Given the description of an element on the screen output the (x, y) to click on. 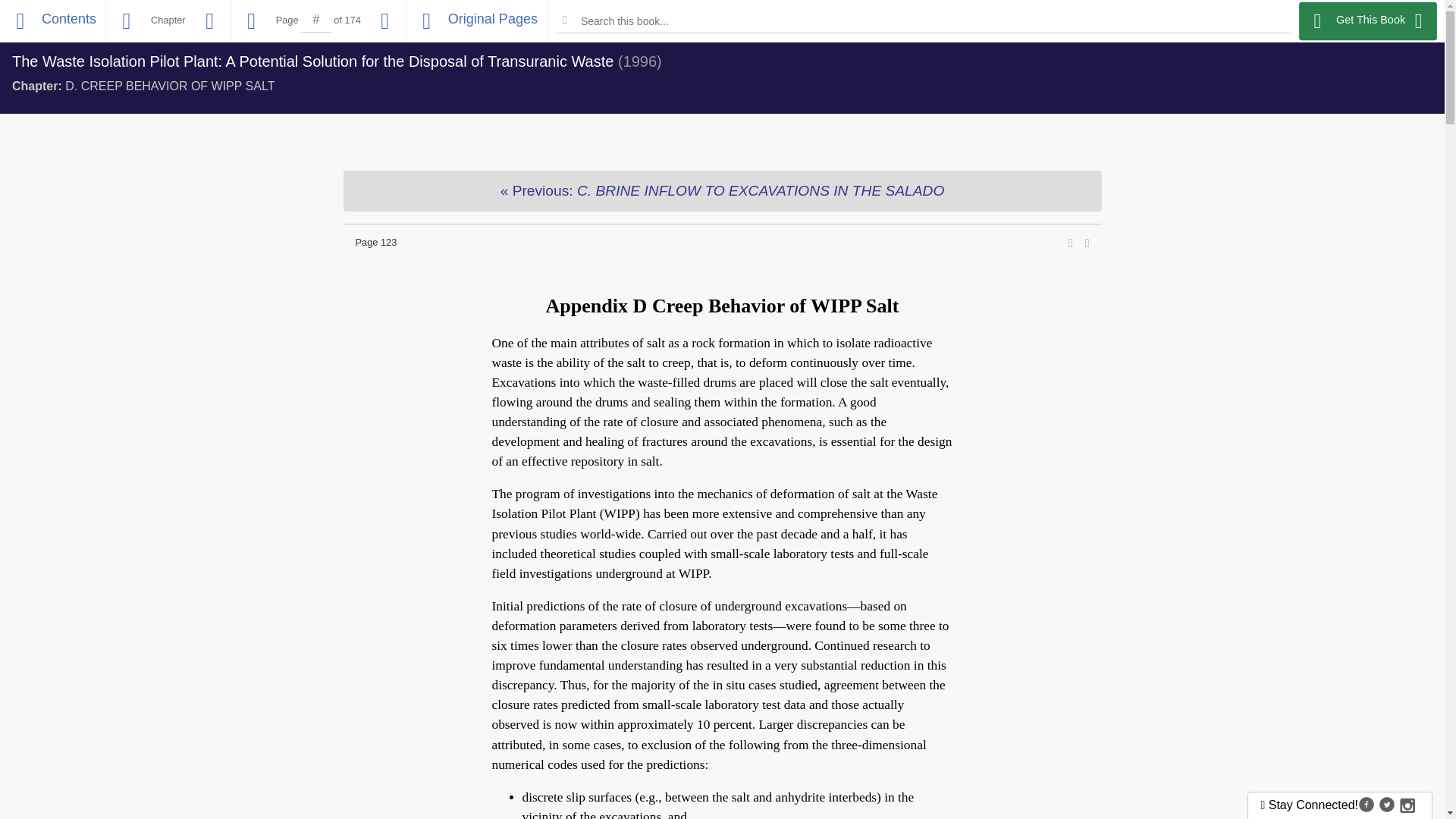
Previous Chapter (721, 190)
Share this page (1070, 243)
Register (1326, 22)
Cite this page (1086, 243)
Login (1272, 22)
Cart (1377, 22)
Help (1418, 22)
